Given the description of an element on the screen output the (x, y) to click on. 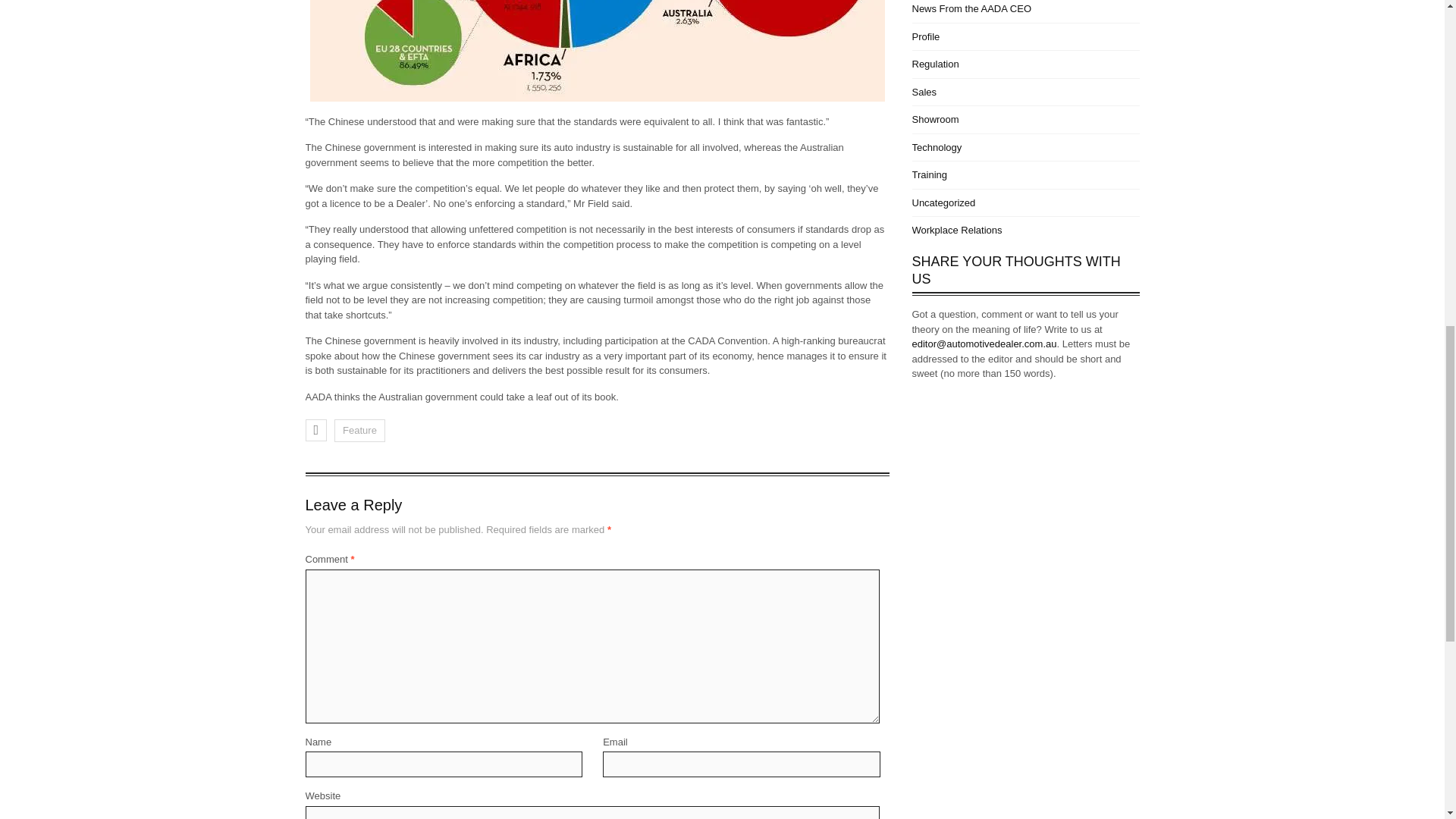
Showroom (934, 119)
Workplace Relations (956, 229)
Training (928, 174)
News From the AADA CEO (970, 8)
Technology (935, 147)
Regulation (934, 63)
Sales (923, 91)
Feature (359, 430)
Profile (925, 36)
Uncategorized (943, 202)
